Given the description of an element on the screen output the (x, y) to click on. 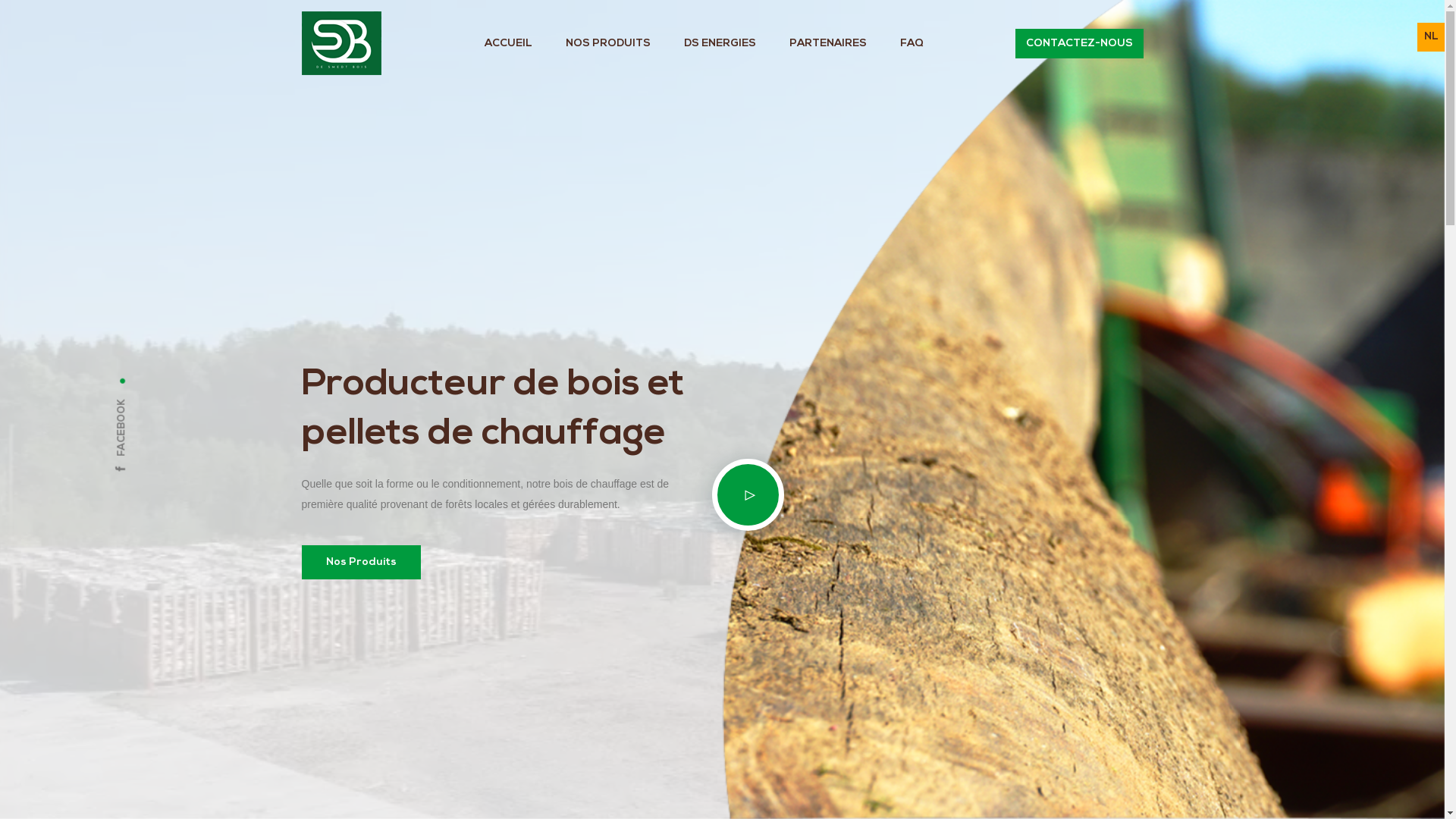
NL Element type: text (1431, 36)
PARTENAIRES Element type: text (827, 42)
DS ENERGIES Element type: text (719, 42)
FACEBOOK Element type: text (153, 403)
FAQ Element type: text (911, 42)
Nos Produits Element type: text (360, 561)
CONTACTEZ-NOUS Element type: text (1078, 42)
ACCUEIL Element type: text (508, 42)
NOS PRODUITS Element type: text (608, 42)
